Given the description of an element on the screen output the (x, y) to click on. 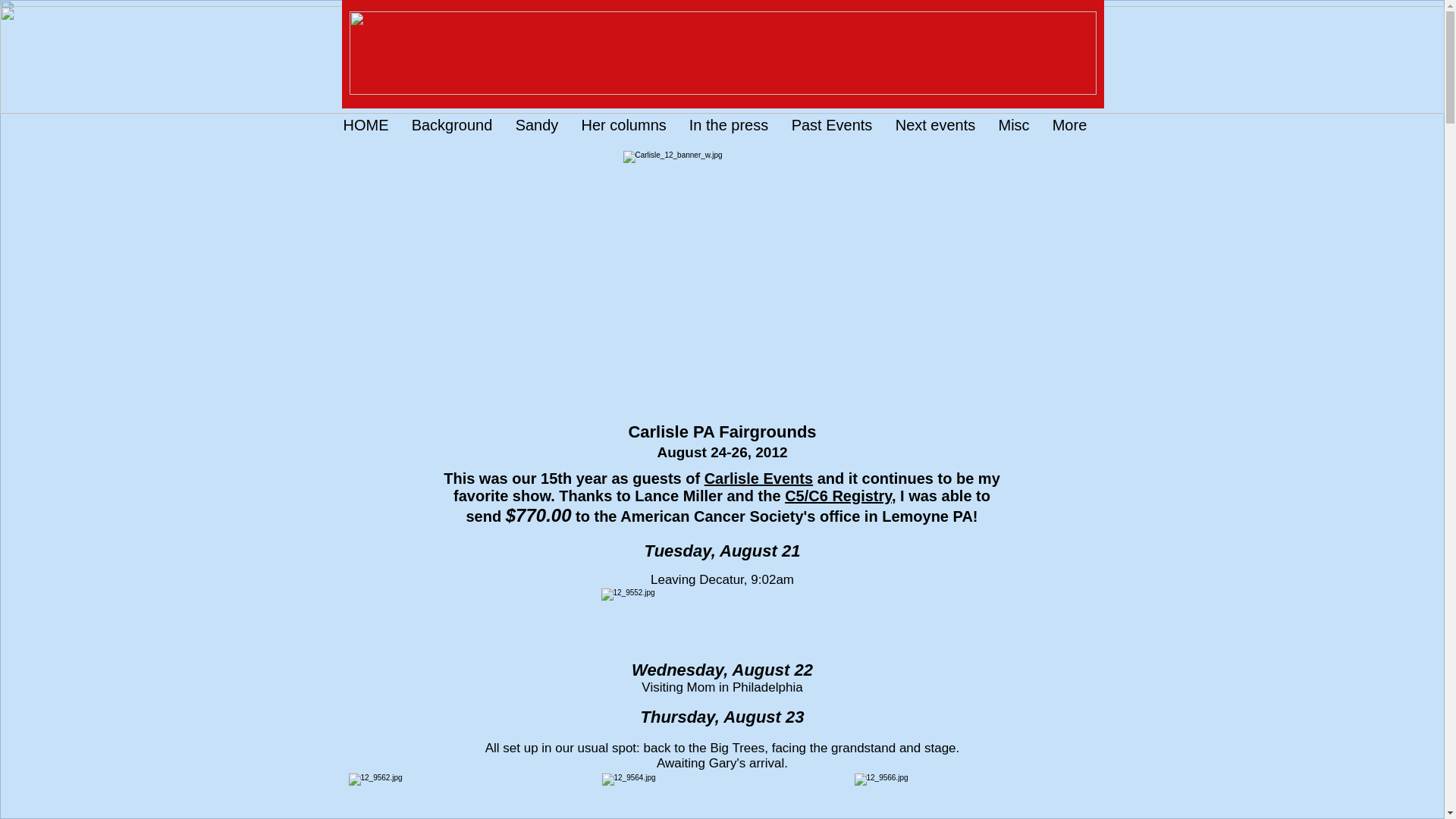
Next events (935, 125)
Her columns (624, 125)
Misc (1014, 125)
In the press (729, 125)
Carlisle Events (758, 478)
Past Events (830, 125)
HOME (365, 125)
Sandy (536, 125)
Background (451, 125)
